Given the description of an element on the screen output the (x, y) to click on. 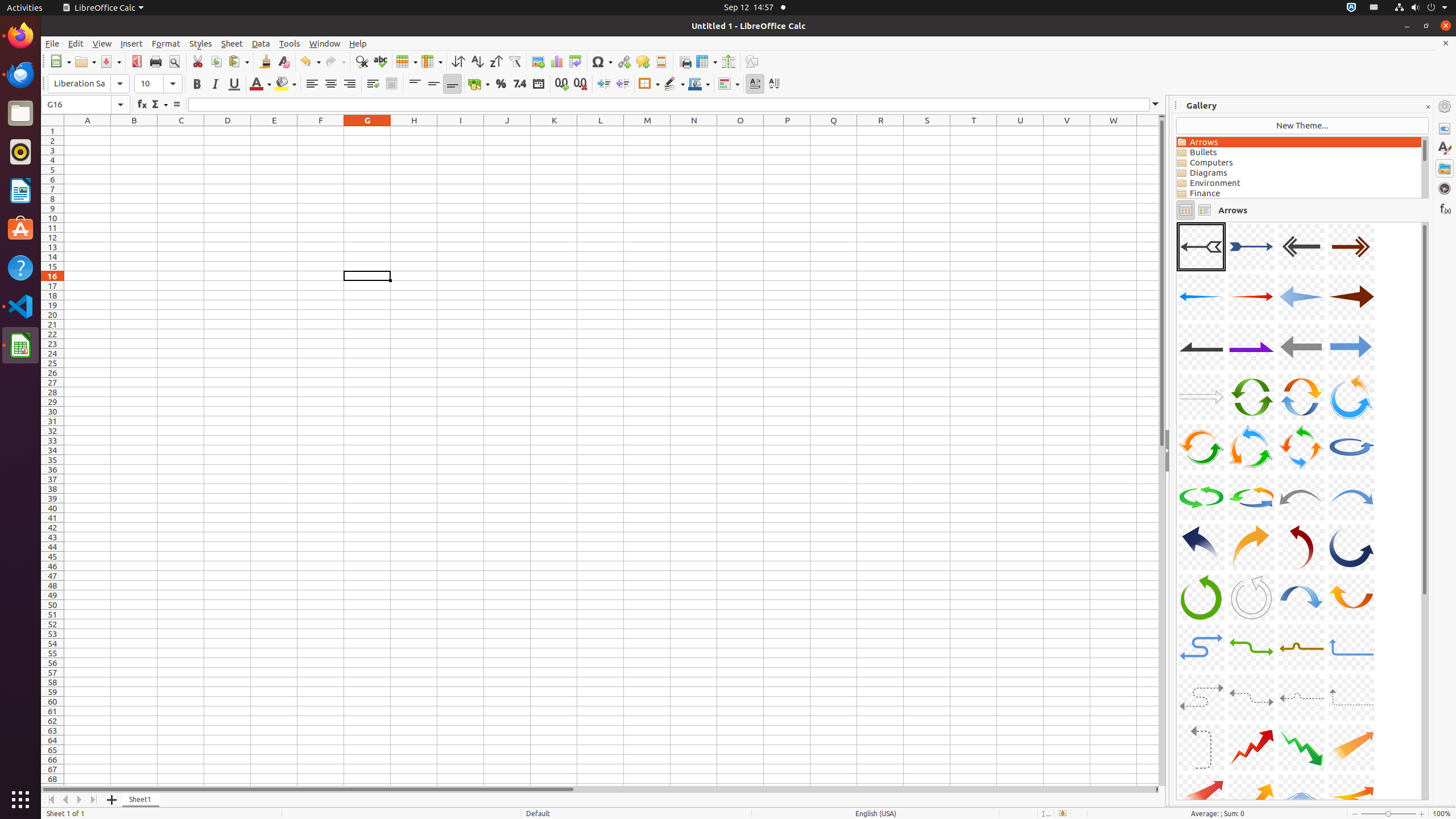
A29-CurvedArrow-Green Element type: list-item (1200, 596)
AutoFilter Element type: push-button (514, 61)
A43-TrendArrow-Green-GoDown Element type: list-item (1300, 746)
Save Element type: push-button (109, 61)
A33-CurvedArrow-LightBlue-TwoDirections Element type: list-item (1200, 646)
